Given the description of an element on the screen output the (x, y) to click on. 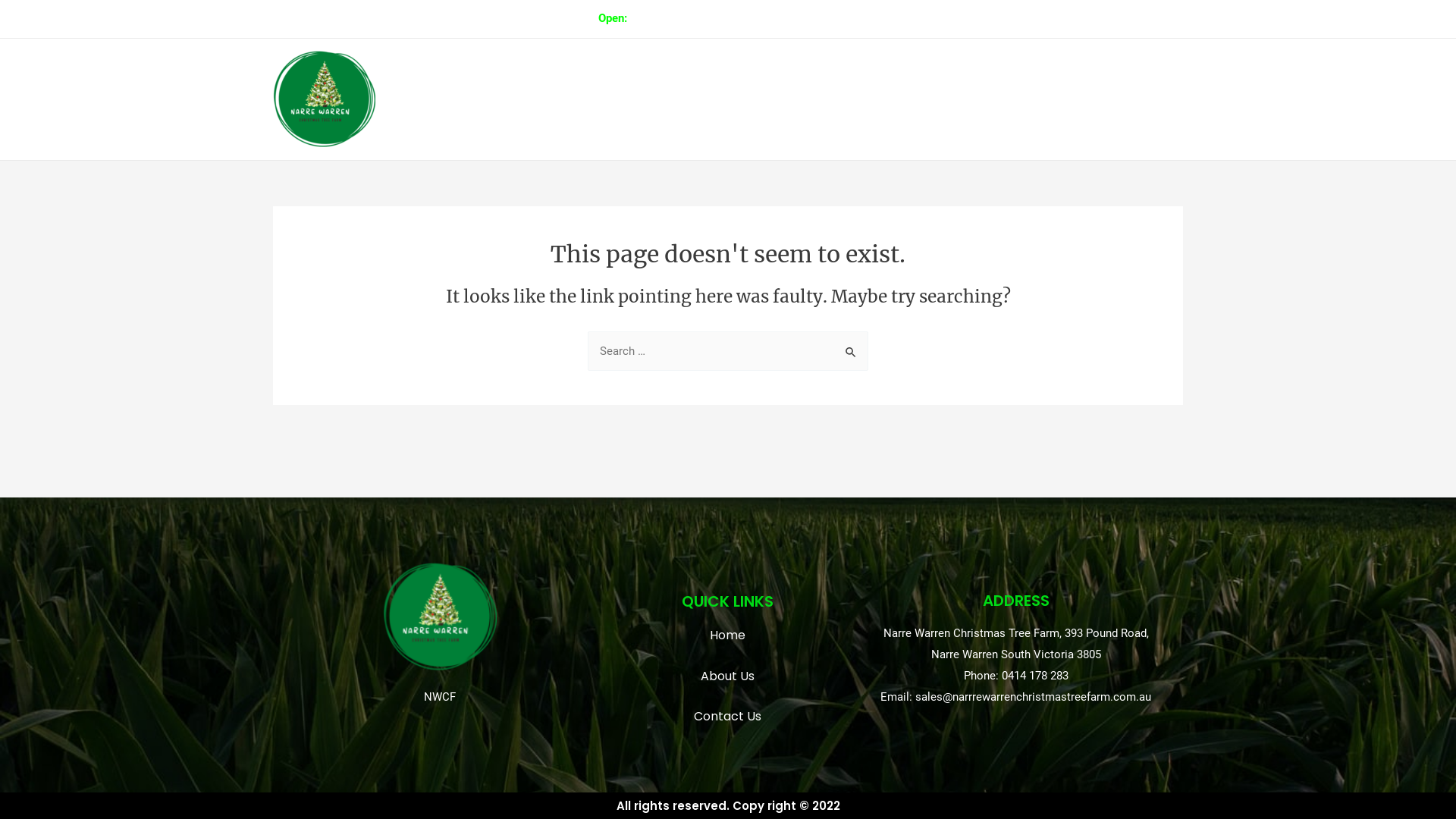
Search Element type: text (851, 346)
Contact Element type: text (1150, 99)
Home Element type: text (953, 99)
About Us Element type: text (1080, 99)
Contact Us Element type: text (727, 716)
Home Element type: text (727, 635)
Gallery Element type: text (1012, 99)
About Us Element type: text (727, 676)
